Given the description of an element on the screen output the (x, y) to click on. 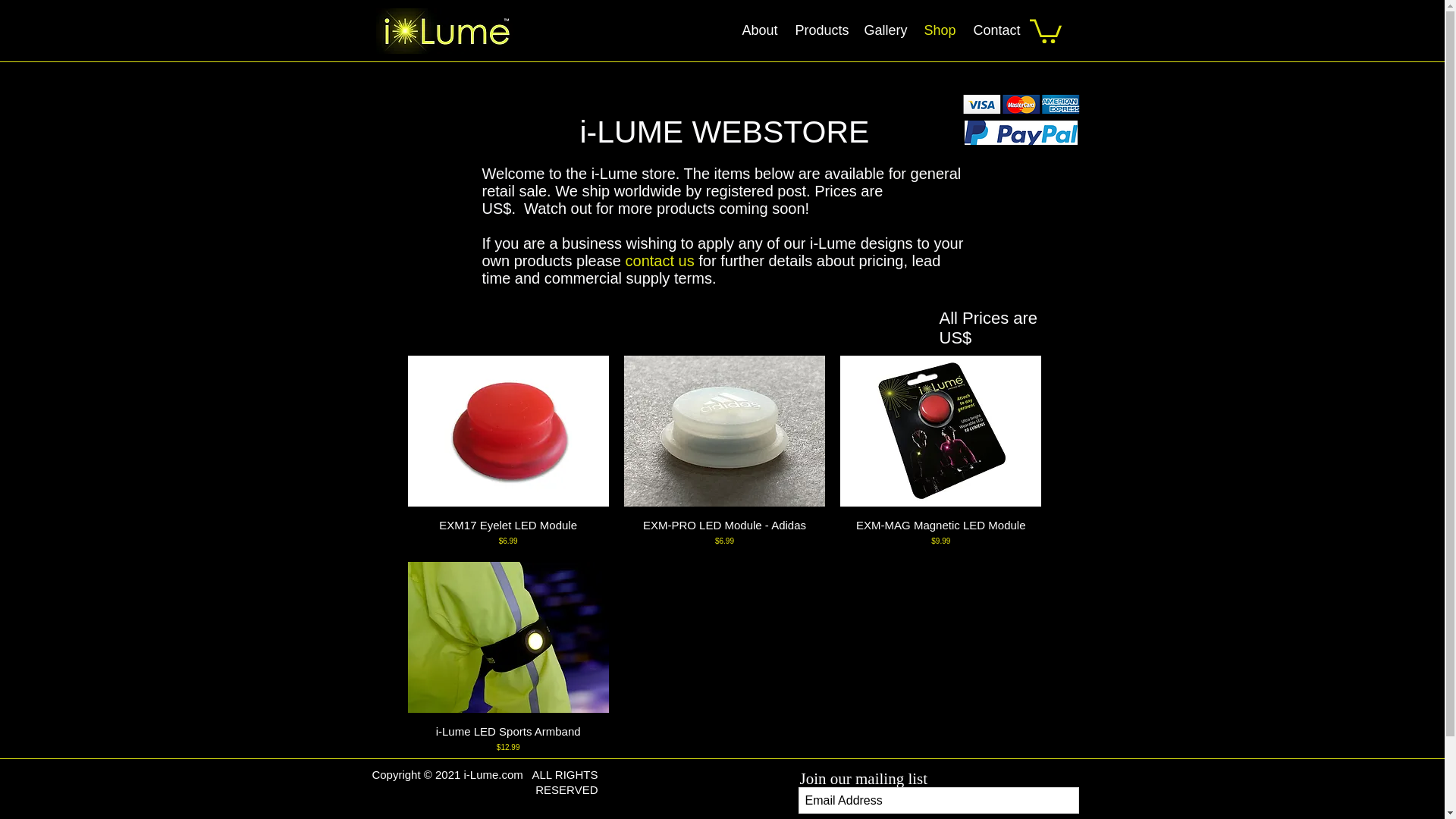
contact us (660, 260)
Products (821, 29)
About (759, 29)
Logo Flare new revised 03-11-15.jpg (444, 31)
Gallery (885, 29)
Contact (996, 29)
Shop (940, 29)
